Given the description of an element on the screen output the (x, y) to click on. 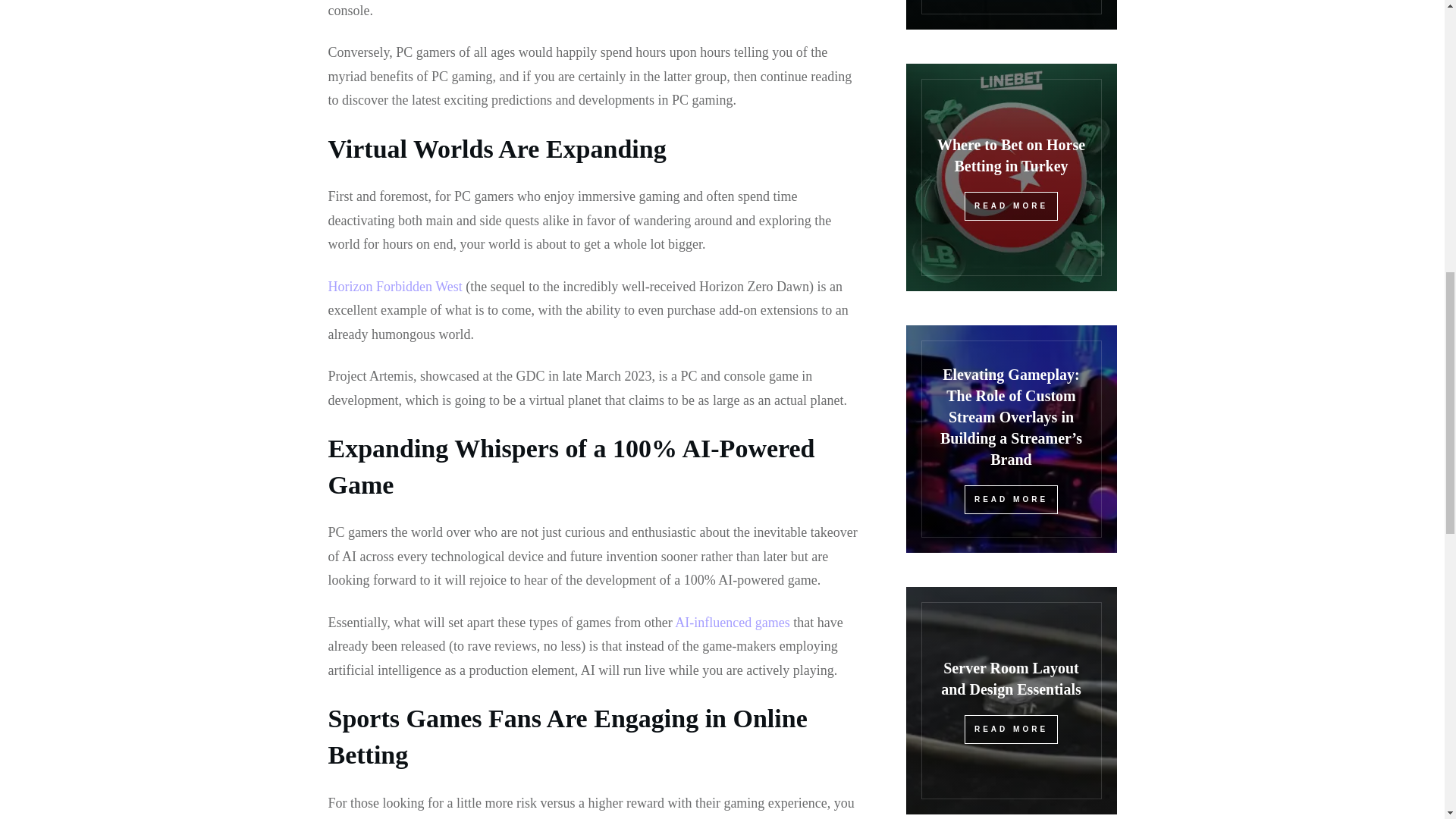
AI-influenced games (732, 622)
READ MORE (1010, 205)
READ MORE (1010, 728)
Where to Bet on Horse Betting in Turkey (1010, 155)
Server Room Layout and Design Essentials (1010, 678)
Server Room Layout and Design Essentials (1010, 678)
Where to Bet on Horse Betting in Turkey (1010, 155)
Horizon Forbidden West (394, 286)
READ MORE (1010, 499)
